Given the description of an element on the screen output the (x, y) to click on. 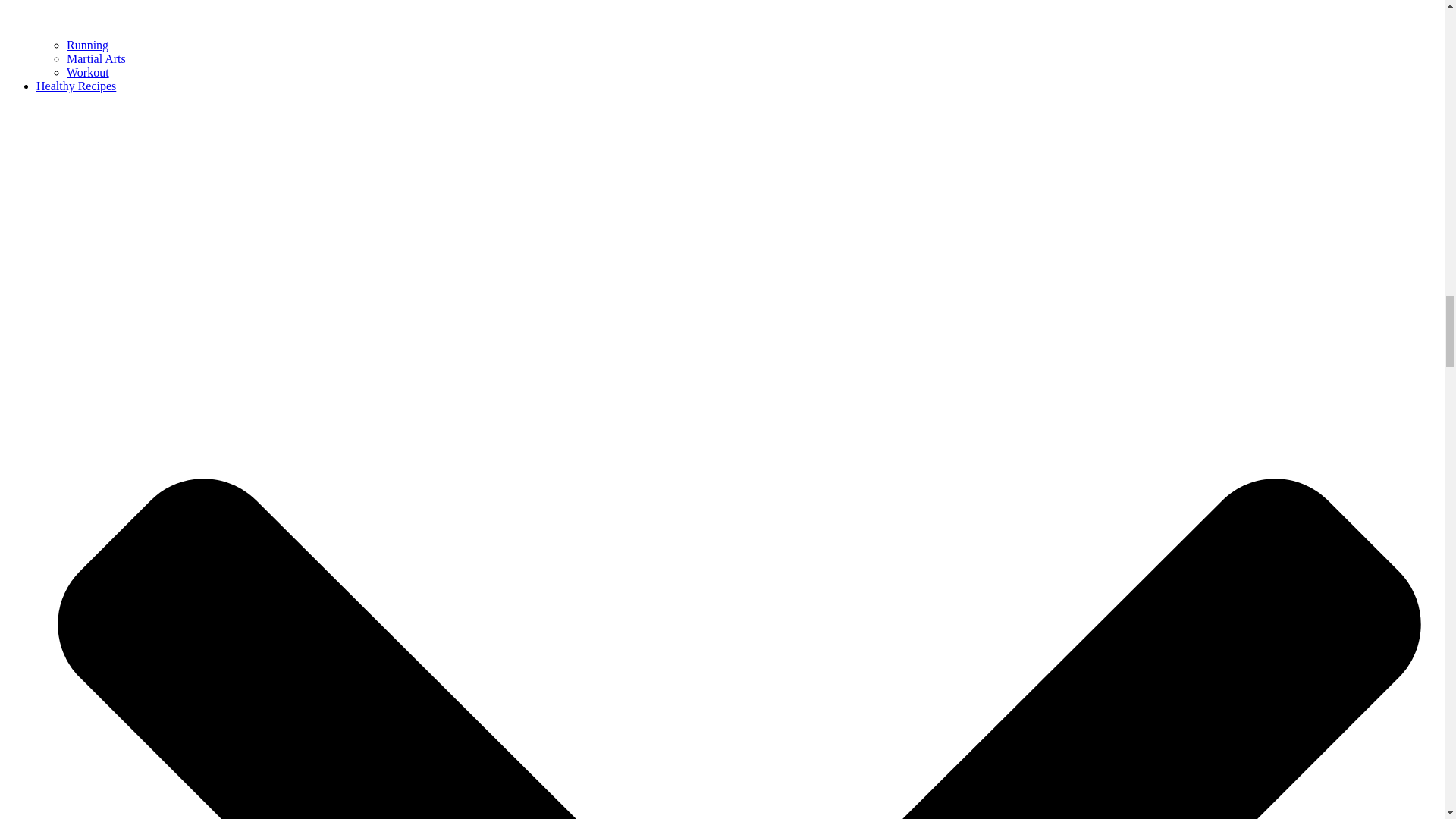
Healthy Recipes (76, 85)
Running (86, 44)
Workout (87, 72)
Martial Arts (95, 58)
